Given the description of an element on the screen output the (x, y) to click on. 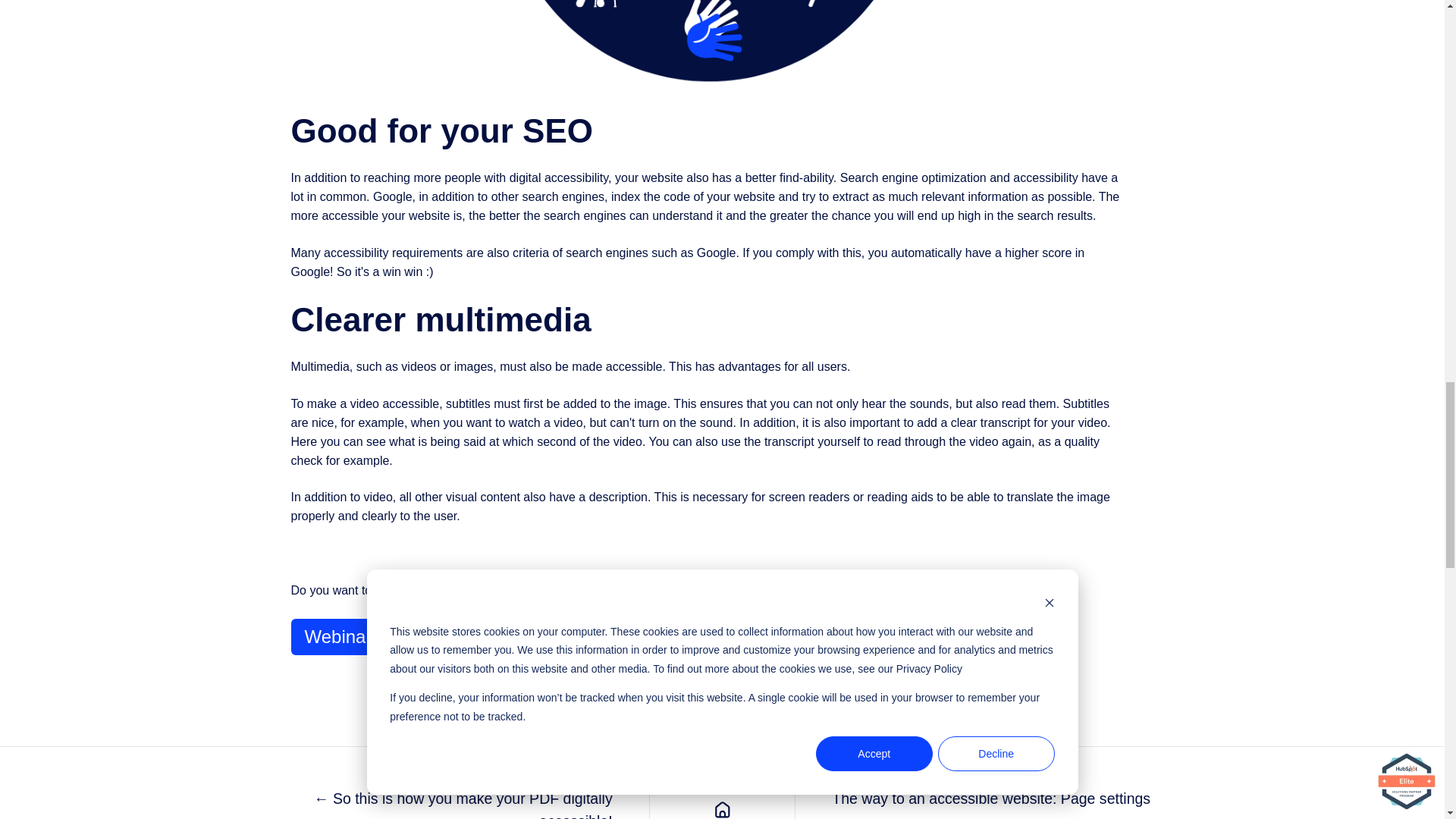
Webinar digital accessibility (415, 637)
